Given the description of an element on the screen output the (x, y) to click on. 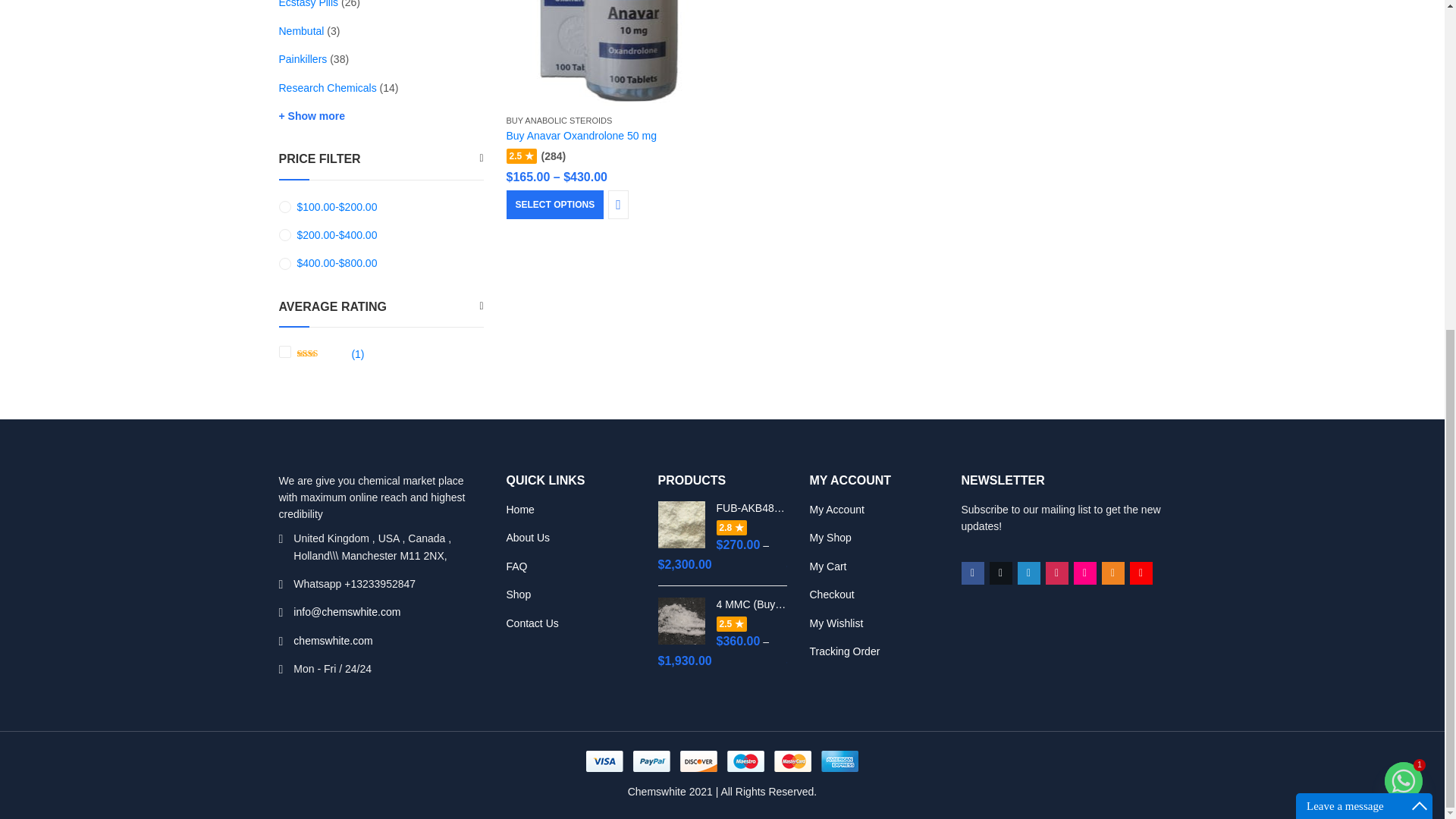
BUY ANABOLIC STEROIDS (559, 120)
Maximize (1419, 260)
Ecstasy Pills (309, 4)
Buy Anavar Oxandrolone 50 mg (581, 135)
SELECT OPTIONS (555, 204)
